Given the description of an element on the screen output the (x, y) to click on. 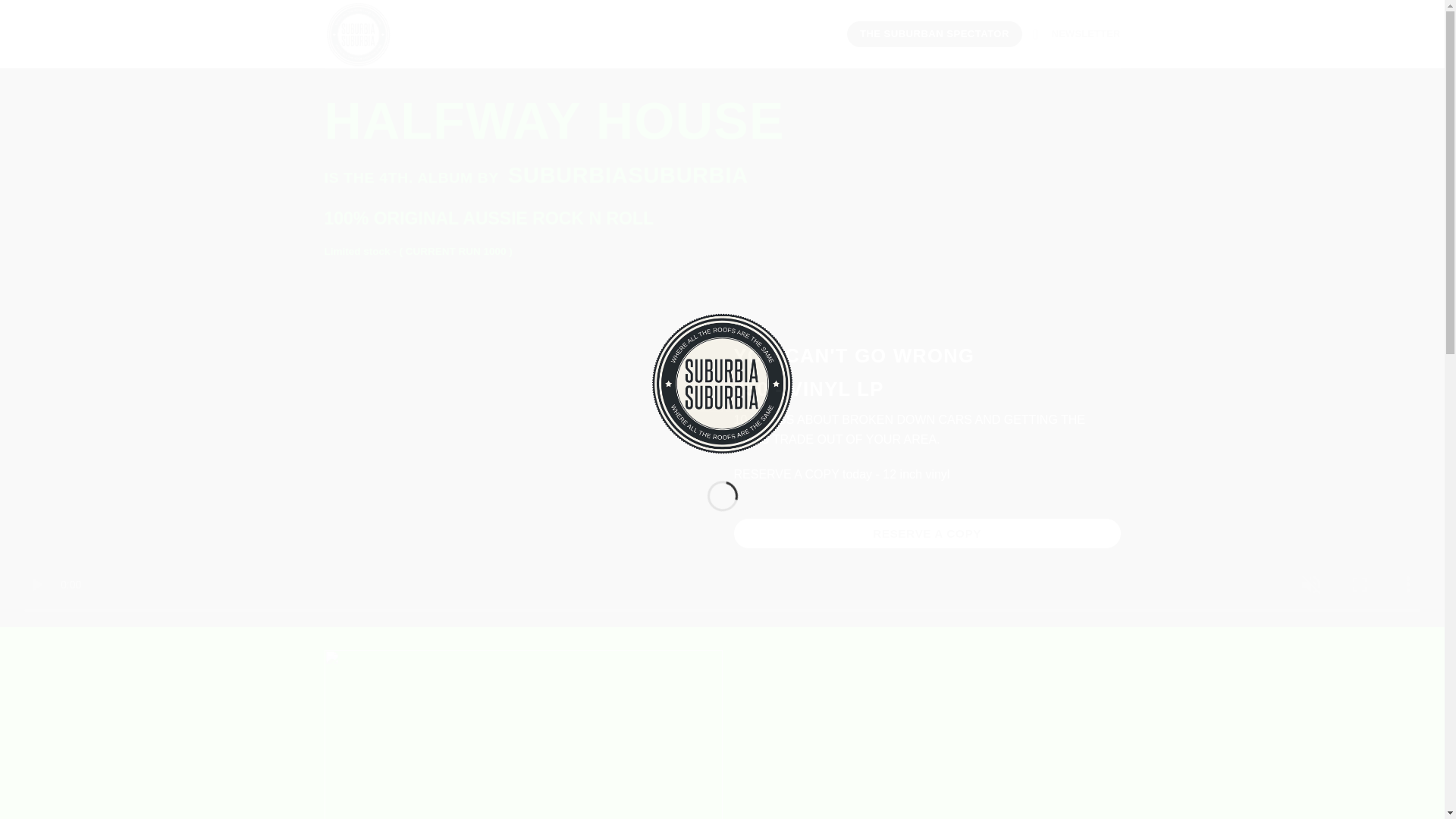
Sign up for Newsletter (1076, 33)
RESERVE A COPY (927, 532)
NEWSLETTER (1076, 33)
THE SUBURBAN SPECTATOR (934, 33)
